Given the description of an element on the screen output the (x, y) to click on. 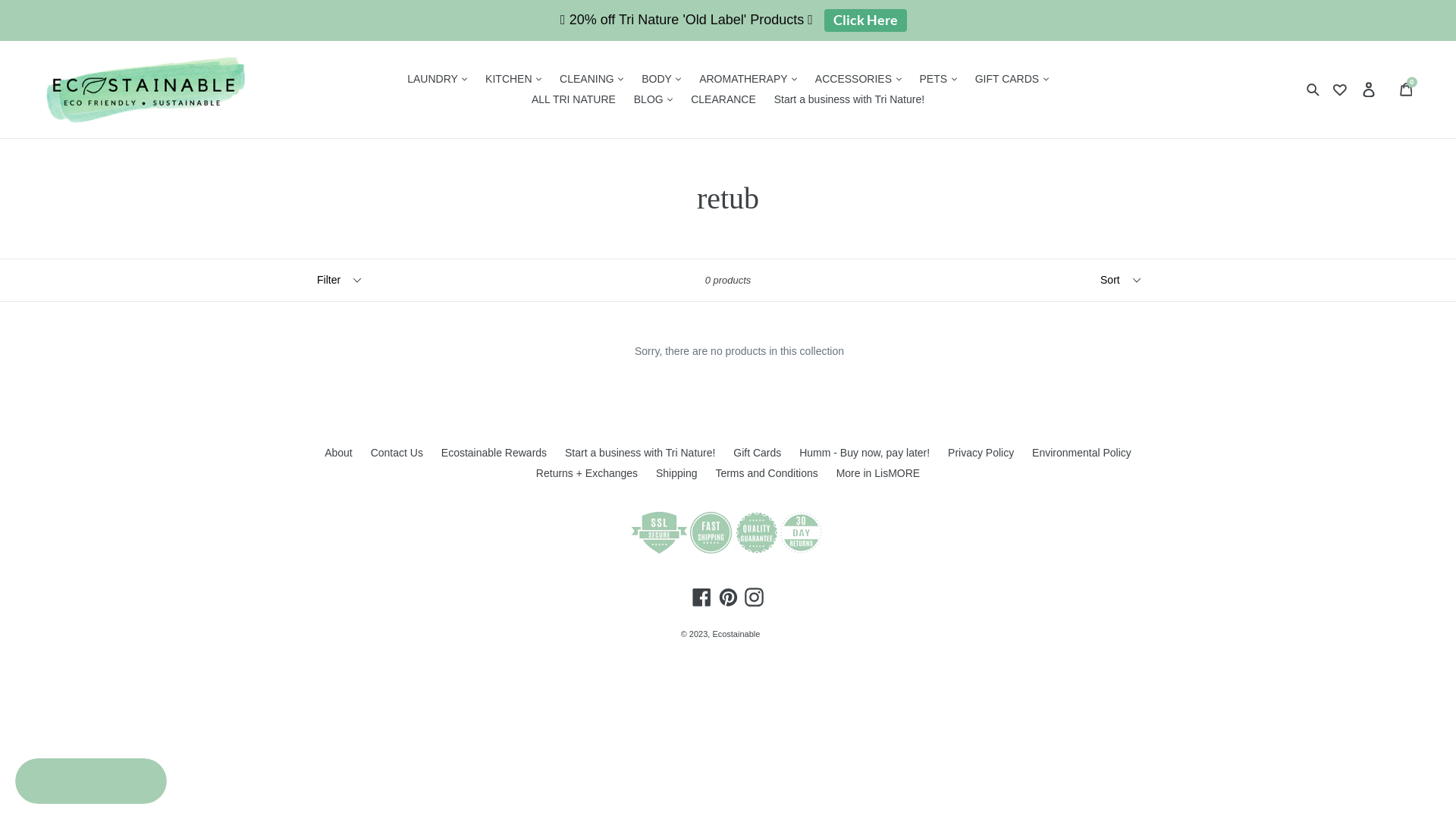
Returns + Exchanges Element type: text (586, 473)
Terms and Conditions Element type: text (766, 473)
Humm - Buy now, pay later! Element type: text (864, 452)
Ecostainable Element type: text (735, 633)
CLEARANCE Element type: text (723, 99)
Start a business with Tri Nature! Element type: text (848, 99)
Submit Element type: text (1313, 89)
Privacy Policy Element type: text (980, 452)
Environmental Policy Element type: text (1081, 452)
More in LisMORE Element type: text (877, 473)
Pinterest Element type: text (727, 596)
Ecostainable Rewards Element type: text (493, 452)
Log in Element type: text (1368, 88)
Instagram Element type: text (753, 596)
ALL TRI NATURE Element type: text (573, 99)
Contact Us Element type: text (396, 452)
Facebook Element type: text (701, 596)
Start a business with Tri Nature! Element type: text (639, 452)
About Element type: text (338, 452)
Cart
0 Element type: text (1406, 88)
Gift Cards Element type: text (757, 452)
Shipping Element type: text (676, 473)
Smile.io Rewards Program Launcher Element type: hover (90, 780)
